Given the description of an element on the screen output the (x, y) to click on. 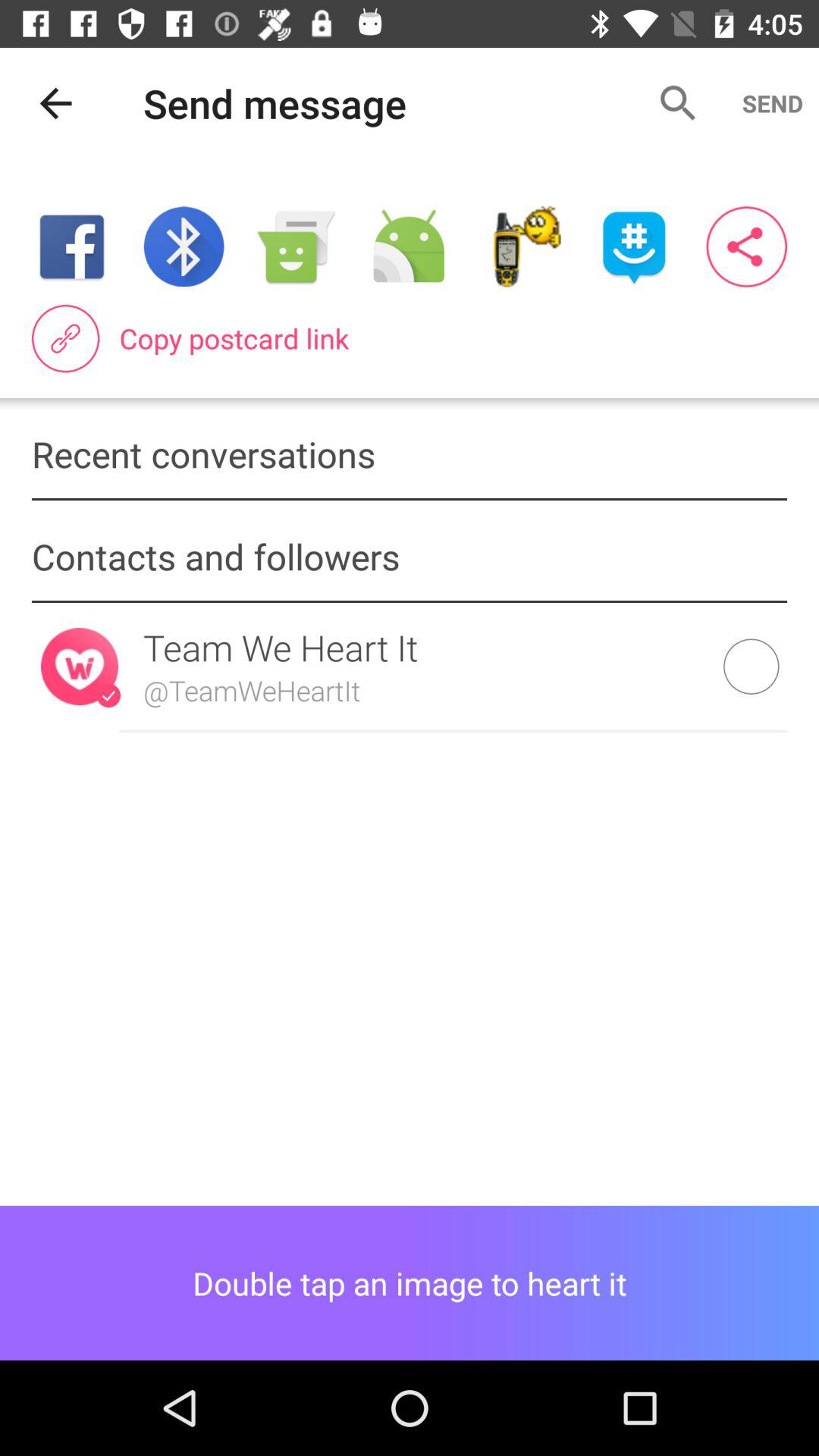
press the icon next to the send message icon (55, 103)
